Given the description of an element on the screen output the (x, y) to click on. 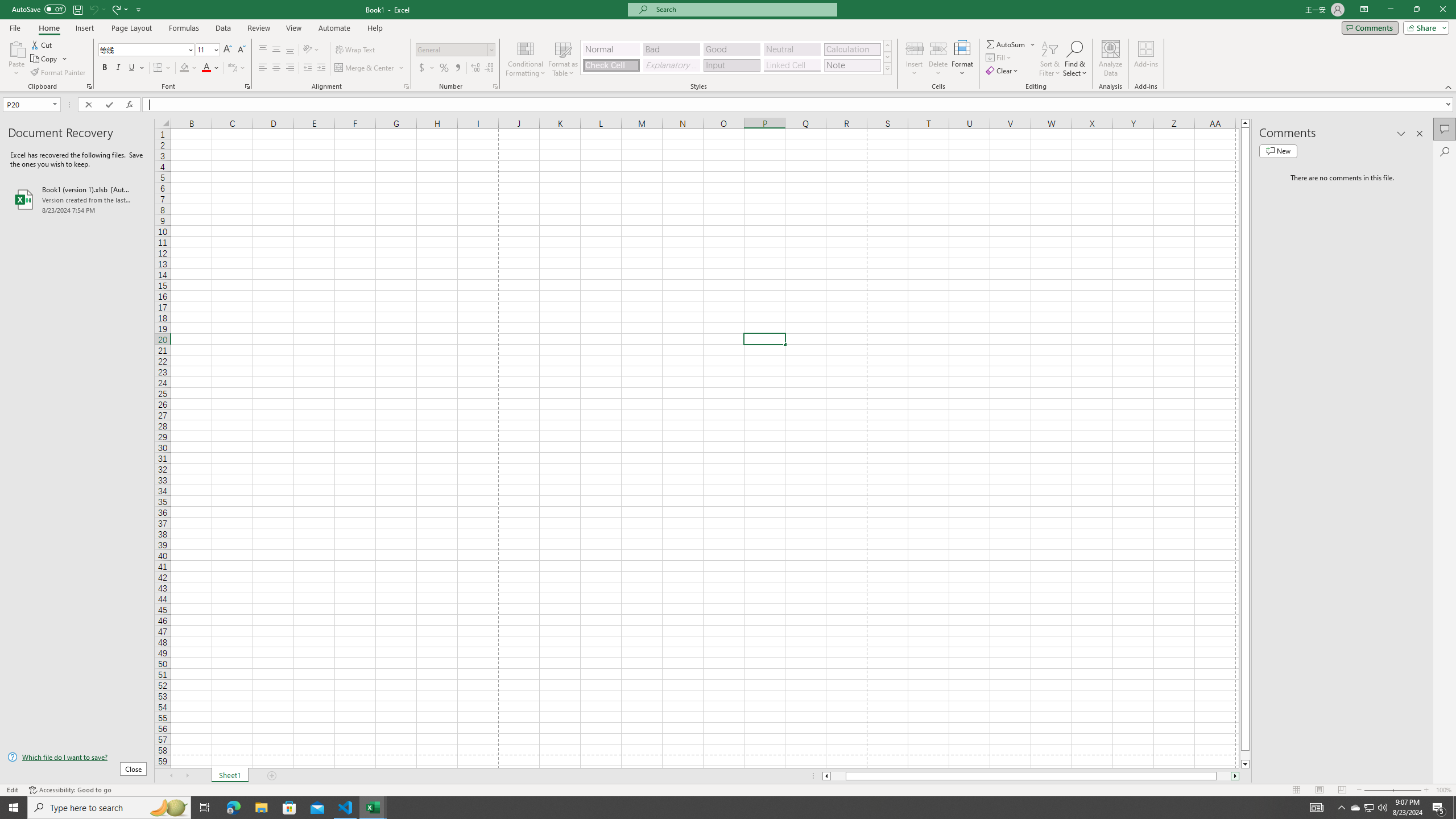
Center (276, 67)
Font Color (210, 67)
Conditional Formatting (525, 58)
Number Format (451, 49)
Decrease Font Size (240, 49)
Comma Style (457, 67)
Sum (1006, 44)
Top Align (262, 49)
Office Clipboard... (88, 85)
Good (731, 49)
Paste (16, 58)
